Given the description of an element on the screen output the (x, y) to click on. 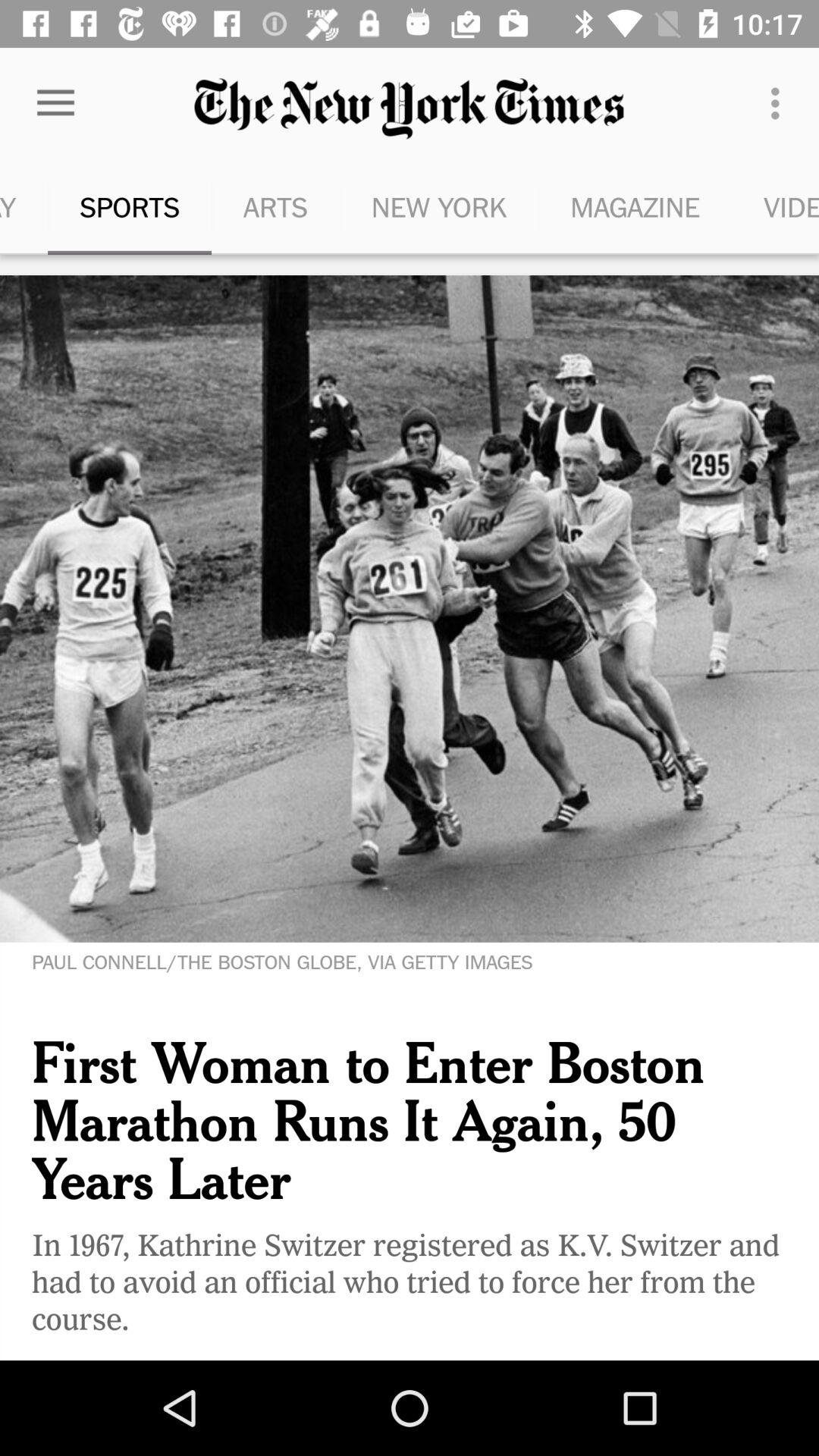
open icon next to the new york icon (634, 206)
